Given the description of an element on the screen output the (x, y) to click on. 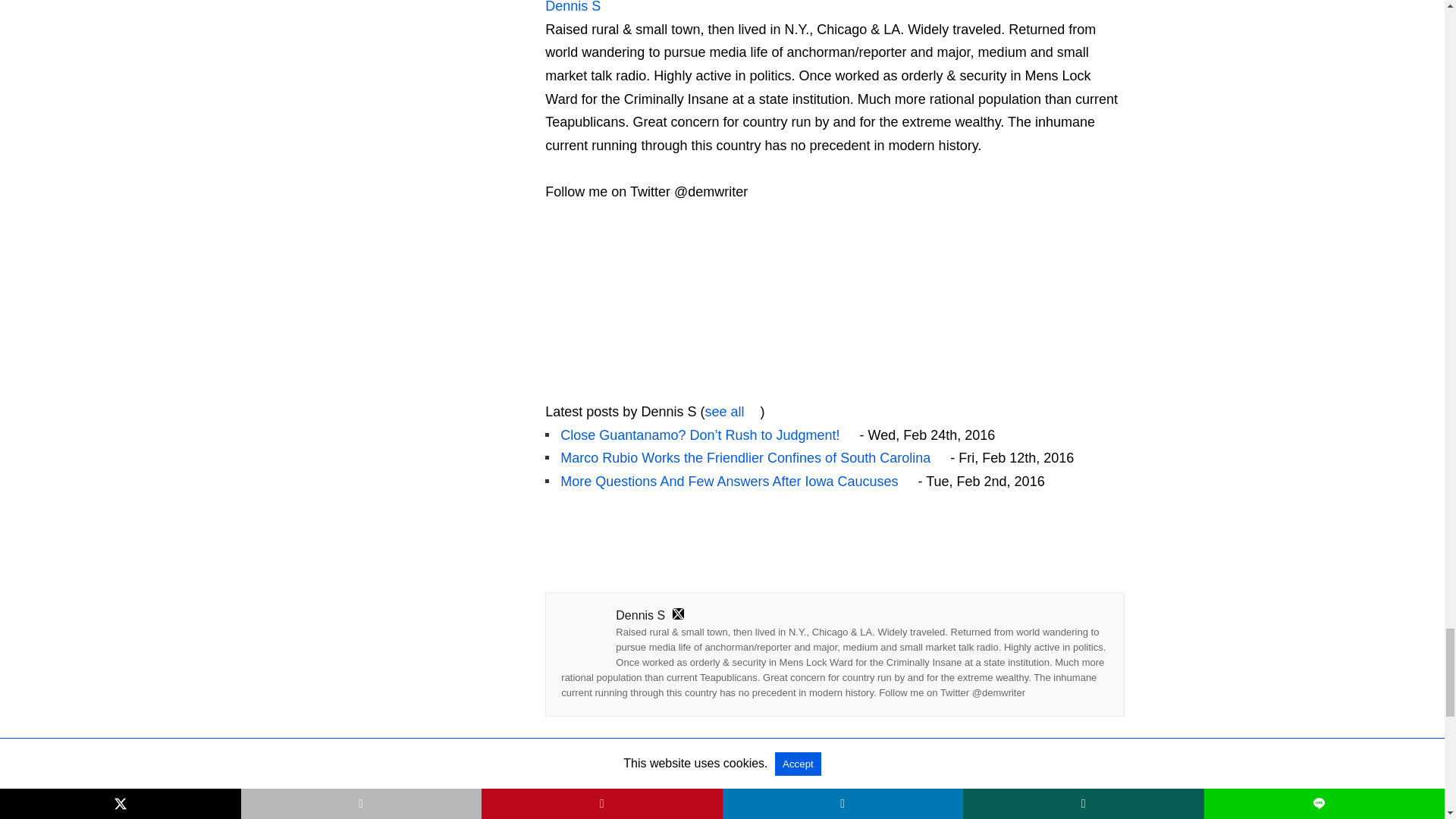
see all (732, 411)
Dennis S (571, 6)
Marco Rubio Works the Friendlier Confines of South Carolina (753, 458)
Dennis S (639, 388)
More Questions And Few Answers After Iowa Caucuses (737, 481)
